Given the description of an element on the screen output the (x, y) to click on. 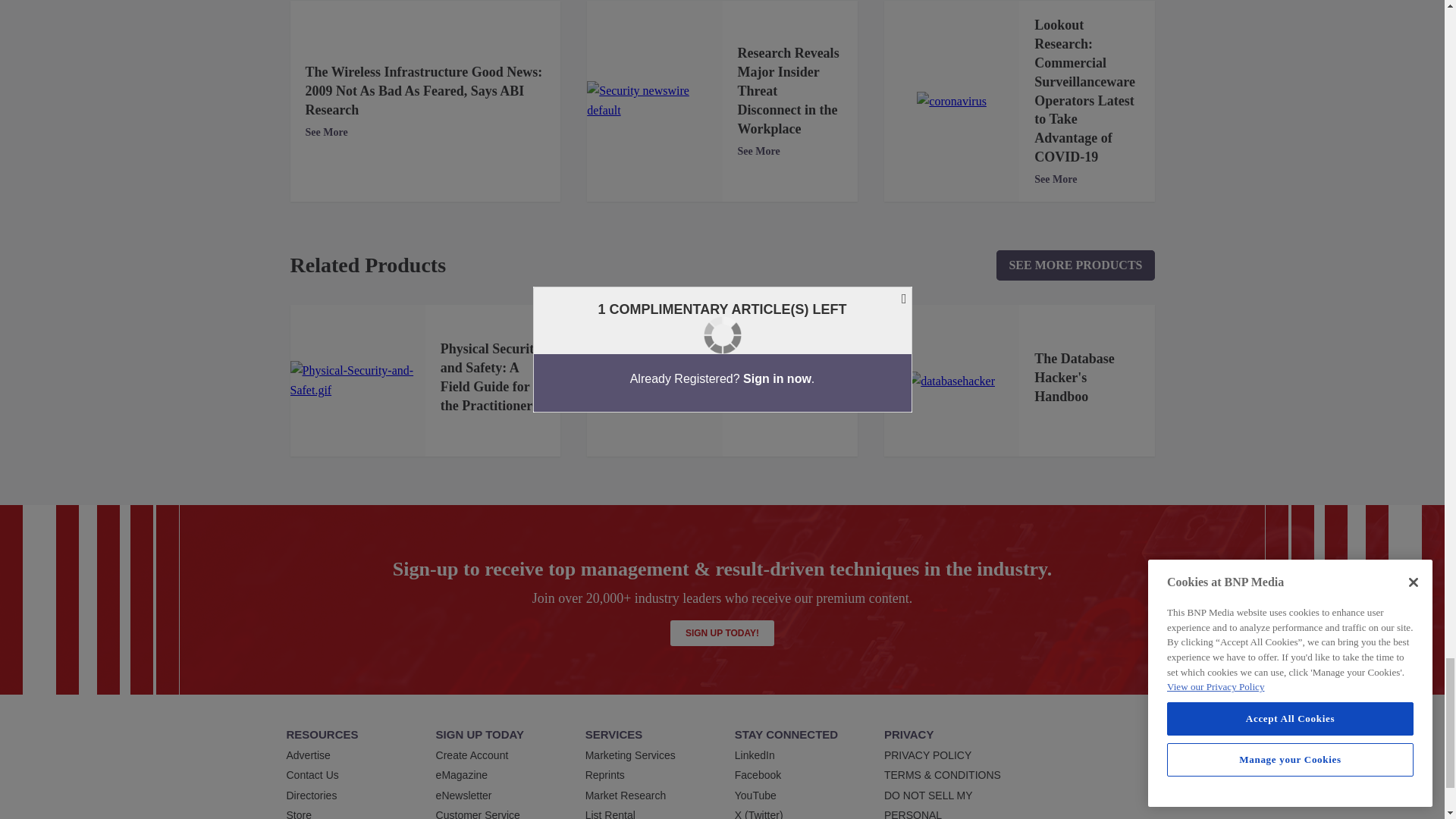
Security newswire default (654, 101)
coronavirus (952, 101)
Physical-Security-and-Safet.gif (357, 381)
